Given the description of an element on the screen output the (x, y) to click on. 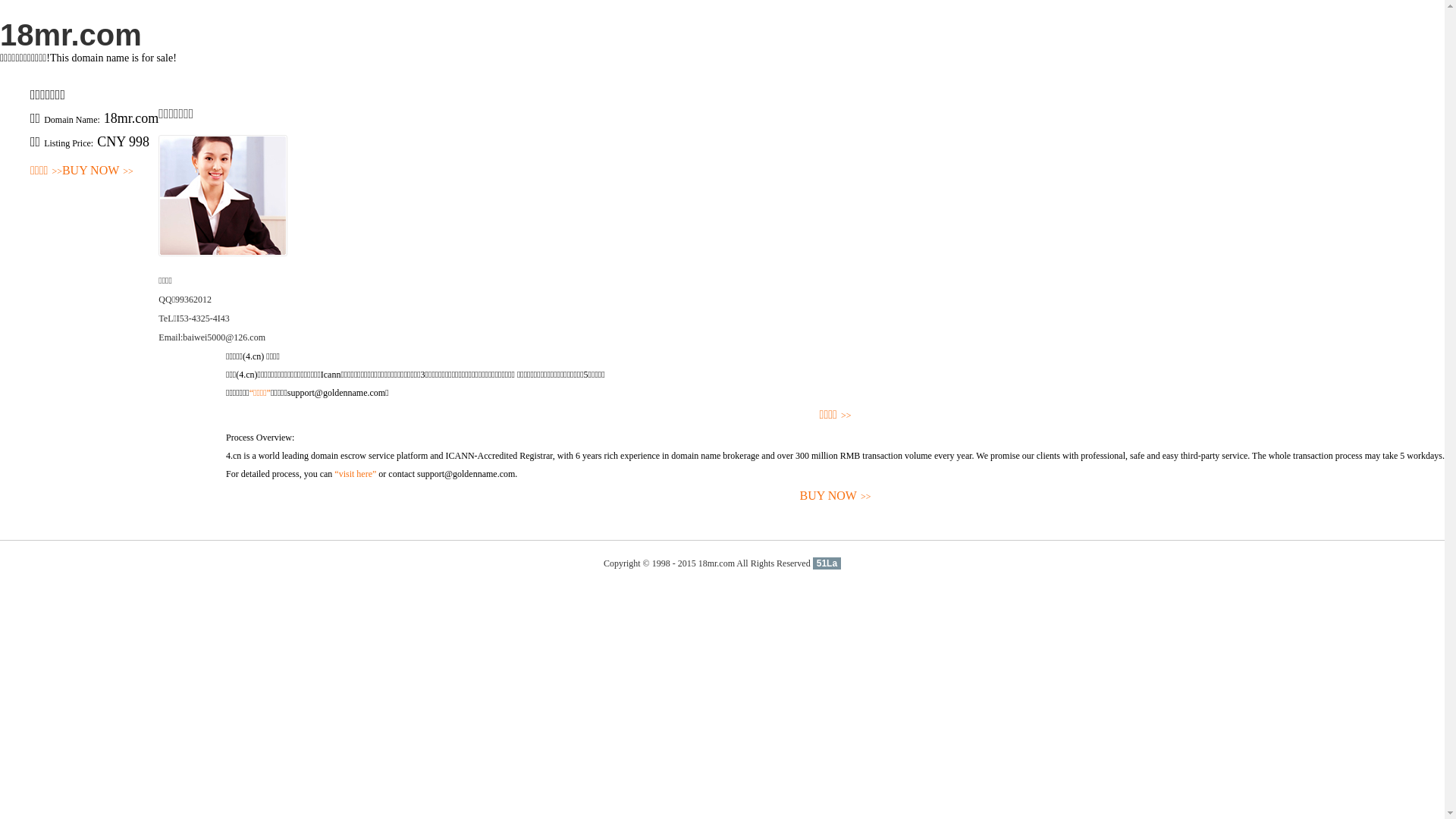
BUY NOW>> Element type: text (834, 496)
51La Element type: text (826, 563)
BUY NOW>> Element type: text (97, 170)
